Given the description of an element on the screen output the (x, y) to click on. 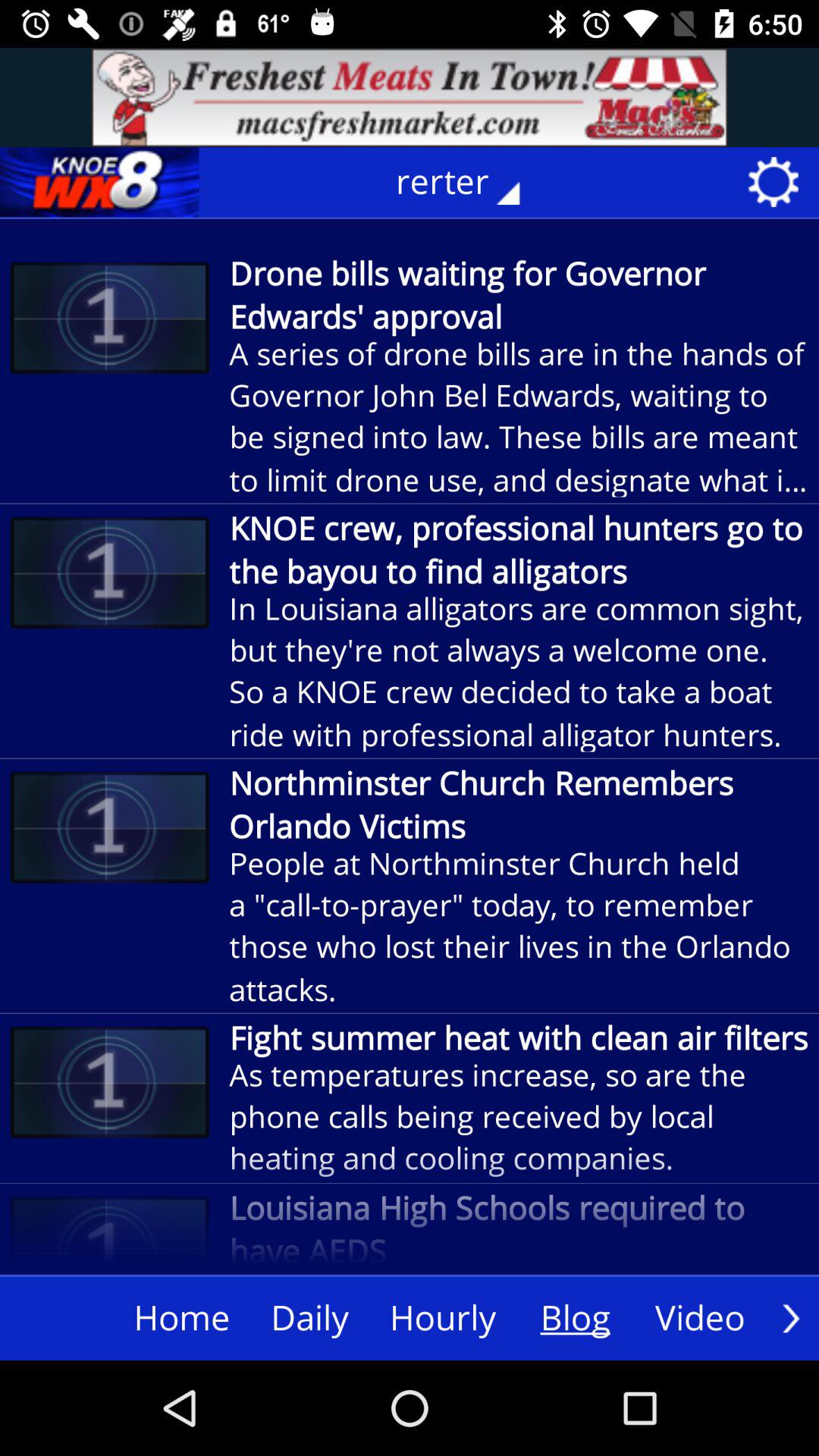
click to move next (791, 1318)
